Given the description of an element on the screen output the (x, y) to click on. 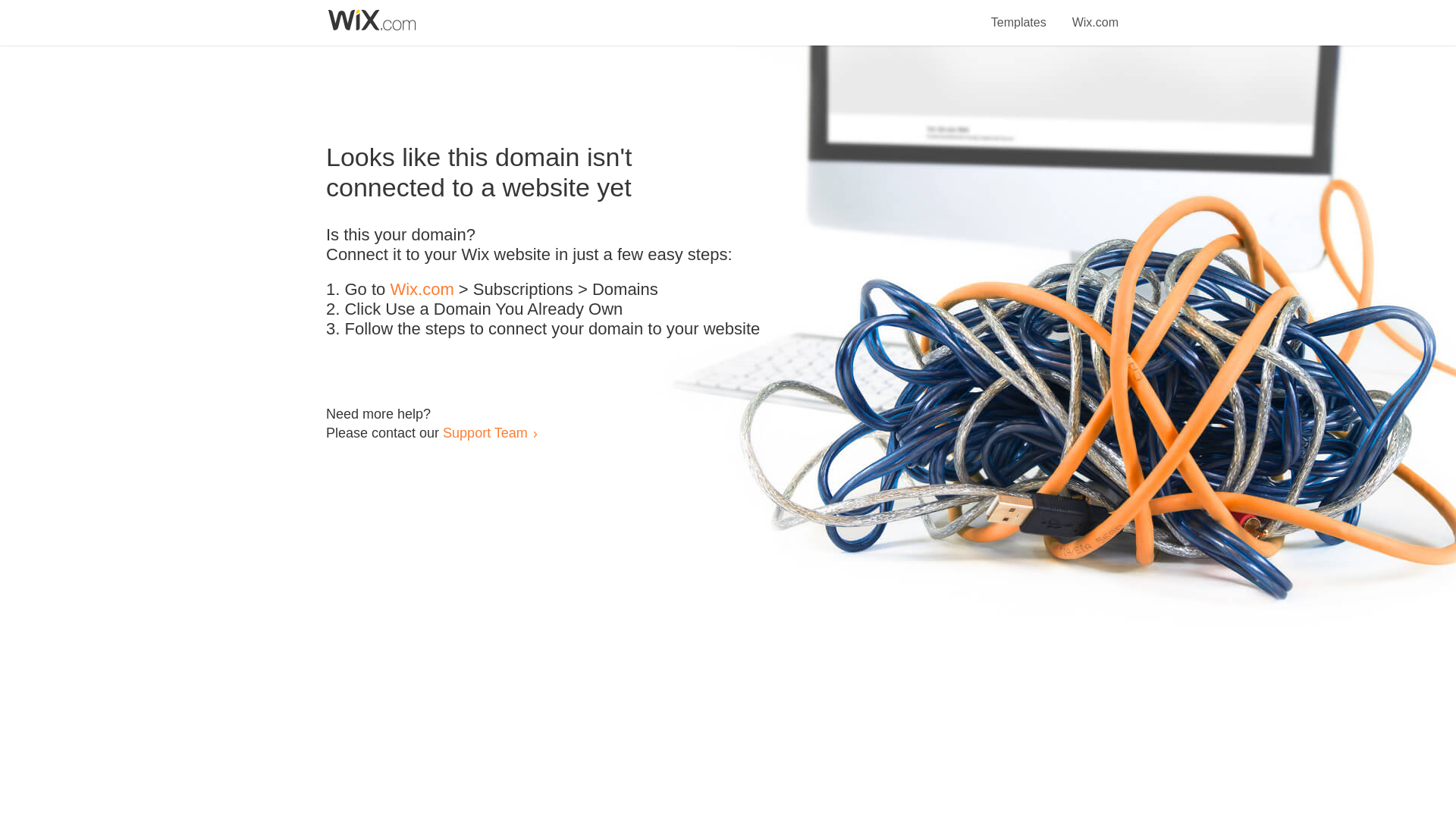
Support Team (484, 432)
Wix.com (421, 289)
Wix.com (1095, 14)
Templates (1018, 14)
